Given the description of an element on the screen output the (x, y) to click on. 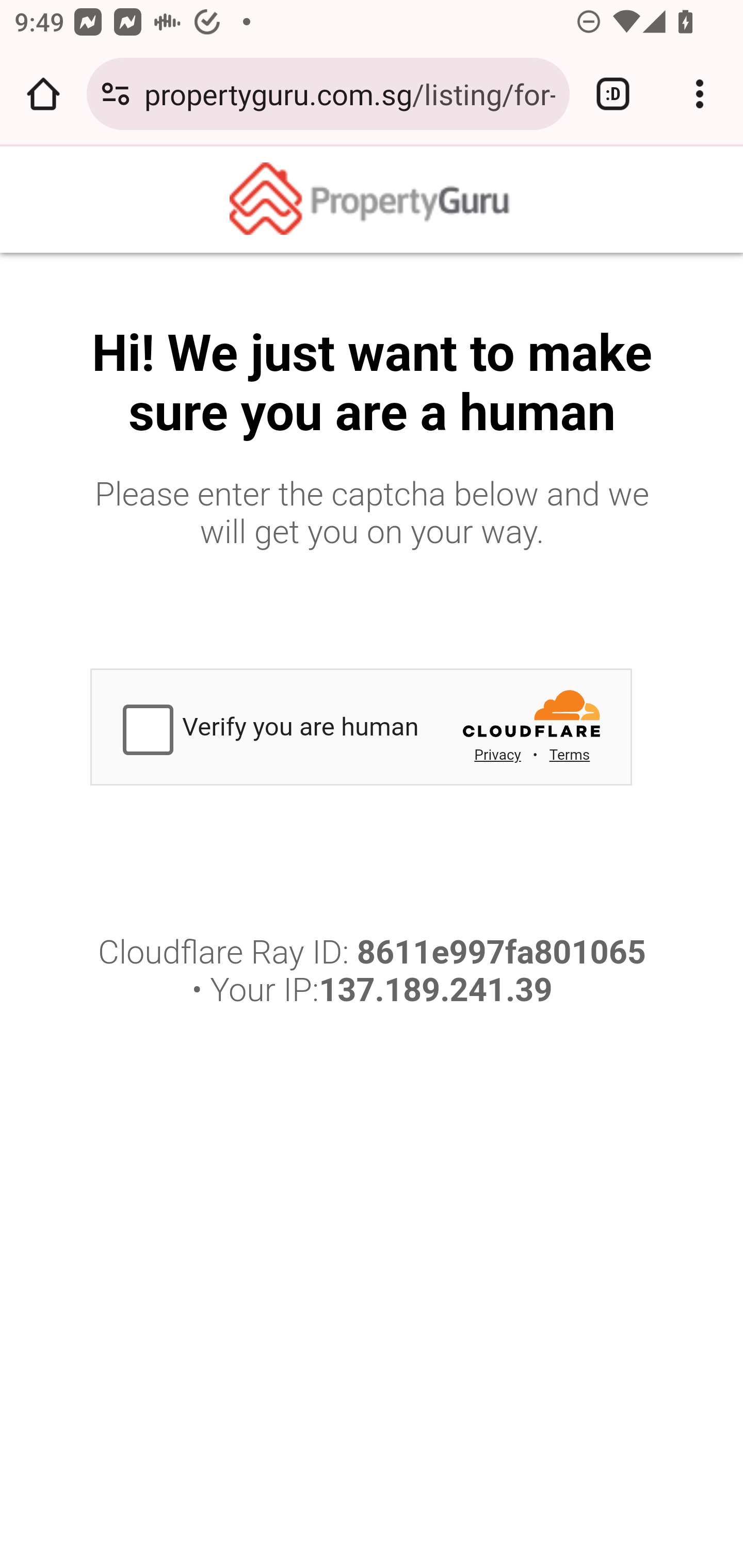
Open the home page (43, 93)
Connection is secure (115, 93)
Switch or close tabs (612, 93)
Customize and control Google Chrome (699, 93)
Home (371, 199)
